Given the description of an element on the screen output the (x, y) to click on. 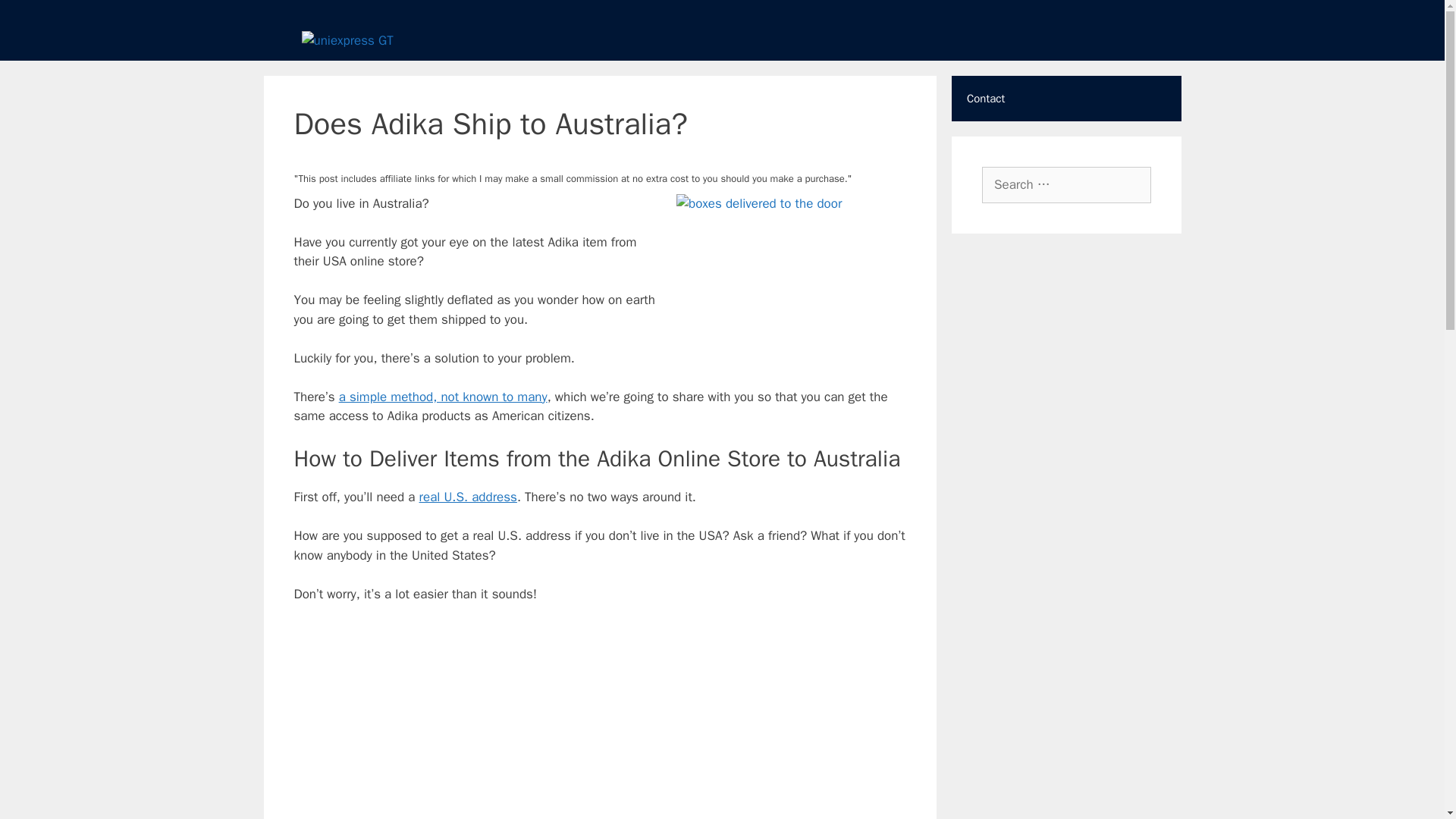
uniexpress GT (347, 40)
uniexpress GT (347, 39)
Search (33, 15)
a simple method, not known to many (443, 396)
MyUS.com: How it Works (600, 721)
Search for: (1066, 185)
Contact (1066, 98)
real U.S. address (467, 496)
